Given the description of an element on the screen output the (x, y) to click on. 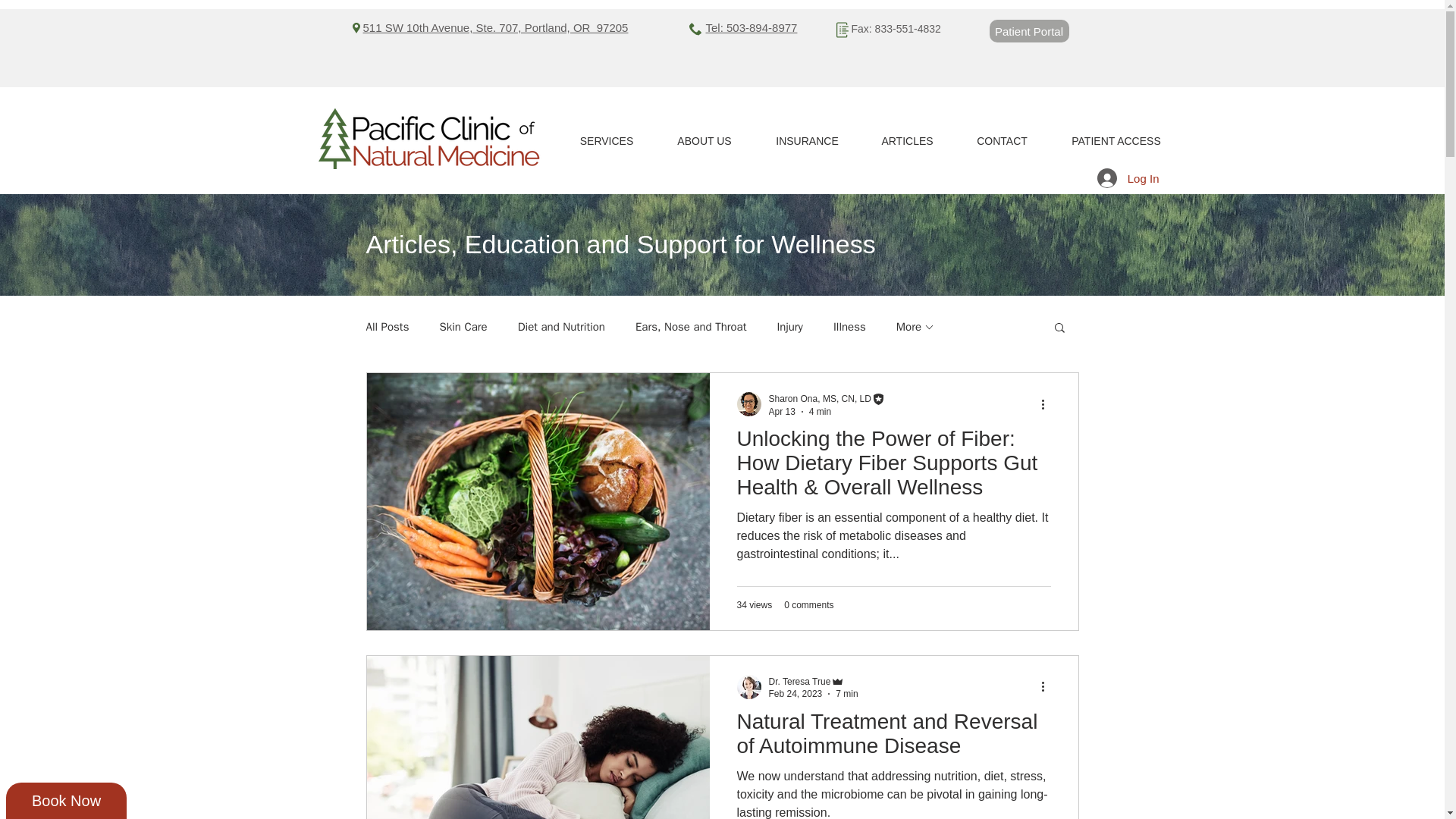
Skin Care (462, 327)
511 SW 10th Avenue, Ste. 707, Portland, OR  97205 (494, 27)
Dr. Teresa True (799, 681)
Tel: 503-894-8977 (750, 27)
SERVICES (605, 141)
7 min (846, 693)
Log In (1128, 177)
INSURANCE (807, 141)
Patient Portal (1028, 30)
PATIENT ACCESS (1115, 141)
Apr 13 (781, 411)
Sharon Ona, MS, CN, LD (819, 398)
CONTACT (1001, 141)
All Posts (387, 327)
Diet and Nutrition (561, 327)
